Given the description of an element on the screen output the (x, y) to click on. 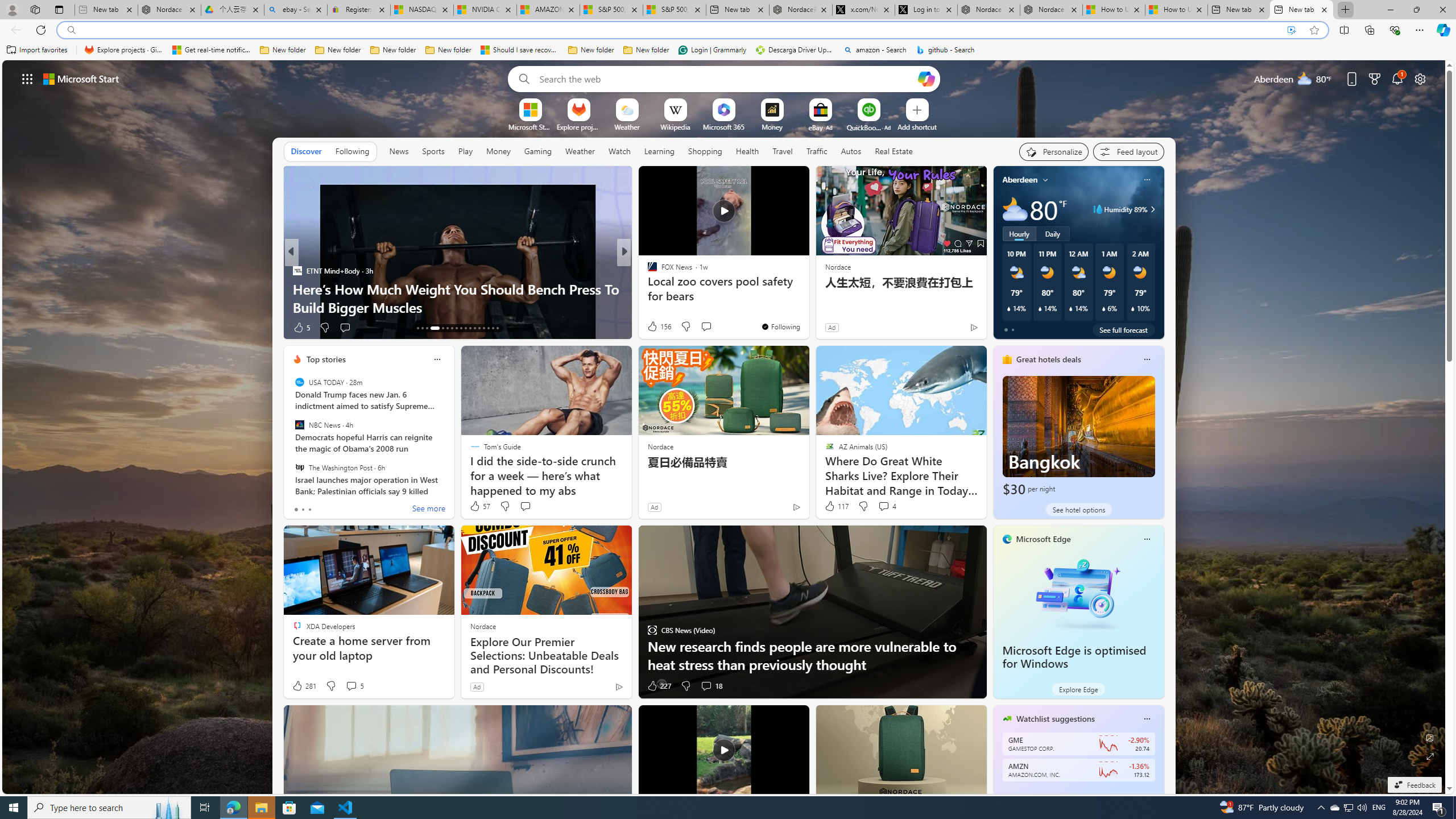
Enhance video (1291, 29)
14 Like (652, 327)
227 Like (658, 685)
Real Estate (893, 151)
347 Like (654, 327)
Elusive Greenland Sharks Spotted In The Deep Ocean (807, 307)
Traffic (816, 151)
tab-0 (295, 509)
AutomationID: tab-20 (456, 328)
AutomationID: tab-15 (426, 328)
View comments 5 Comment (354, 685)
